Given the description of an element on the screen output the (x, y) to click on. 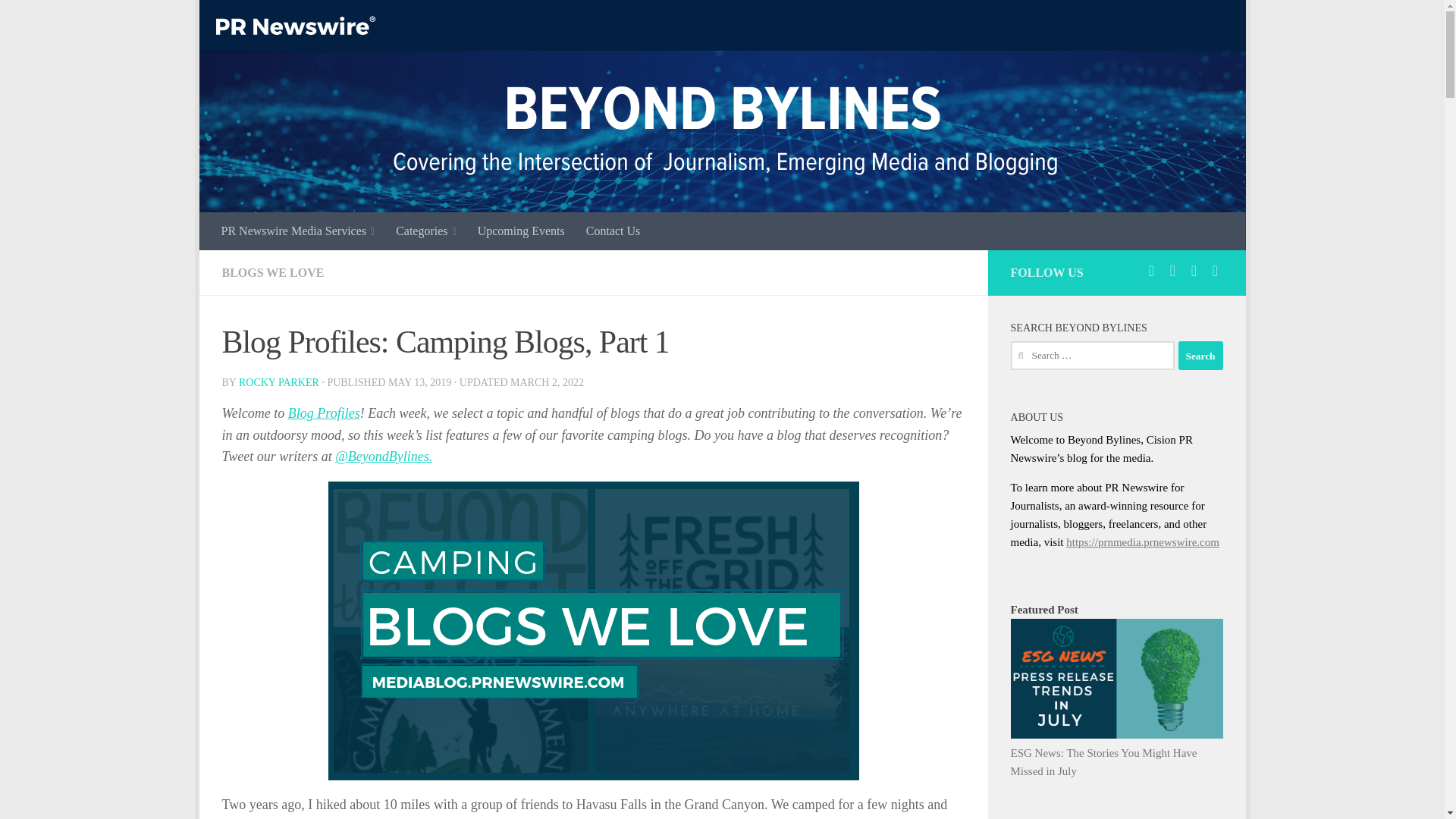
Follow us on Twitter (1150, 270)
Skip to content (258, 20)
Posts by Rocky Parker (278, 382)
Contact Us (612, 231)
Search (1200, 355)
Upcoming Events (521, 231)
ROCKY PARKER (278, 382)
BLOGS WE LOVE (272, 272)
Blog Profiles (323, 412)
Categories (426, 231)
Search (1200, 355)
PR Newswire Media Services (298, 231)
